Given the description of an element on the screen output the (x, y) to click on. 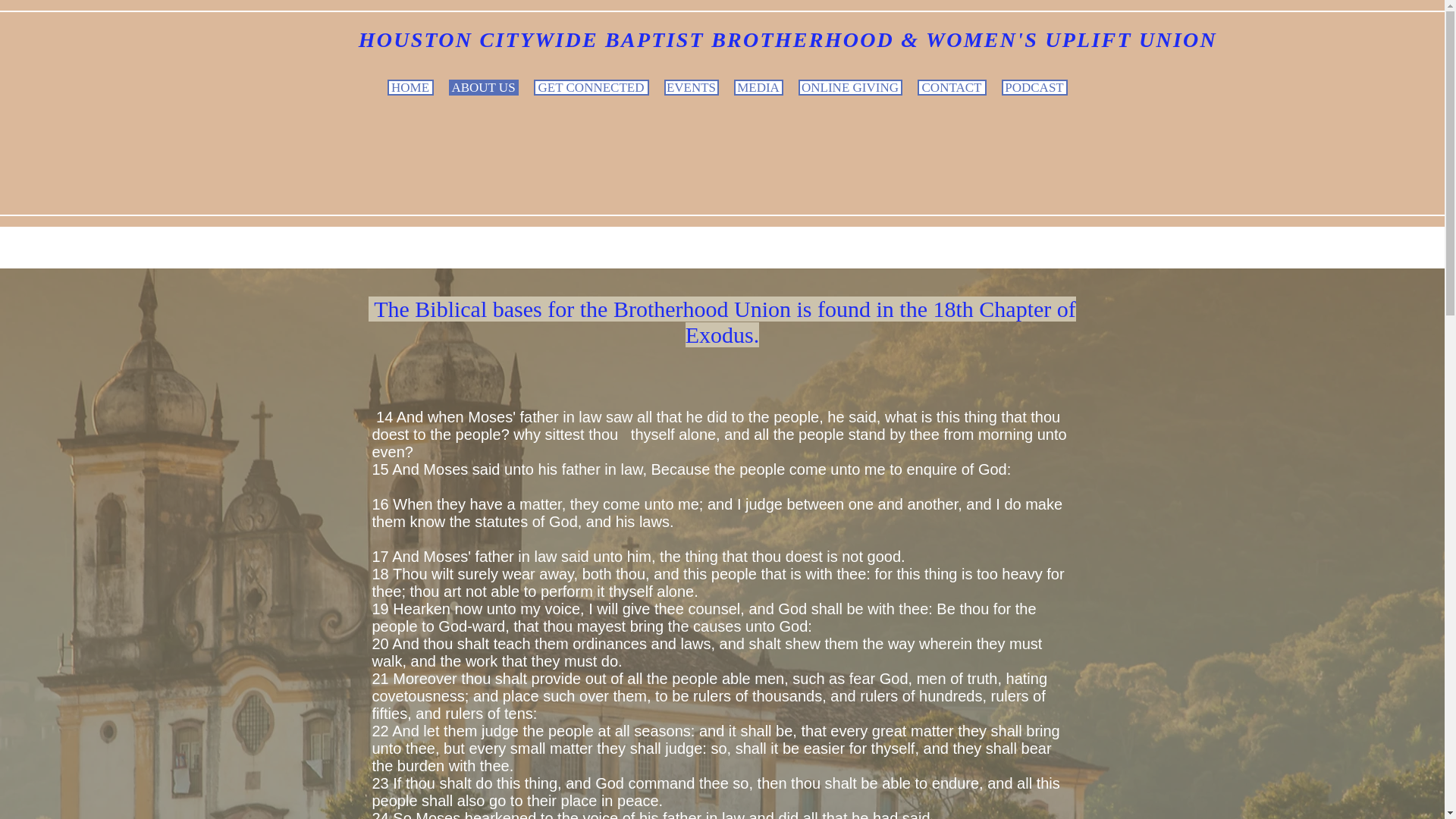
ABOUT US (483, 87)
MEDIA (758, 87)
PODCAST (1034, 87)
HOME (409, 87)
CONTACT (952, 87)
ONLINE GIVING (849, 87)
GET CONNECTED (591, 87)
EVENTS (691, 87)
